Given the description of an element on the screen output the (x, y) to click on. 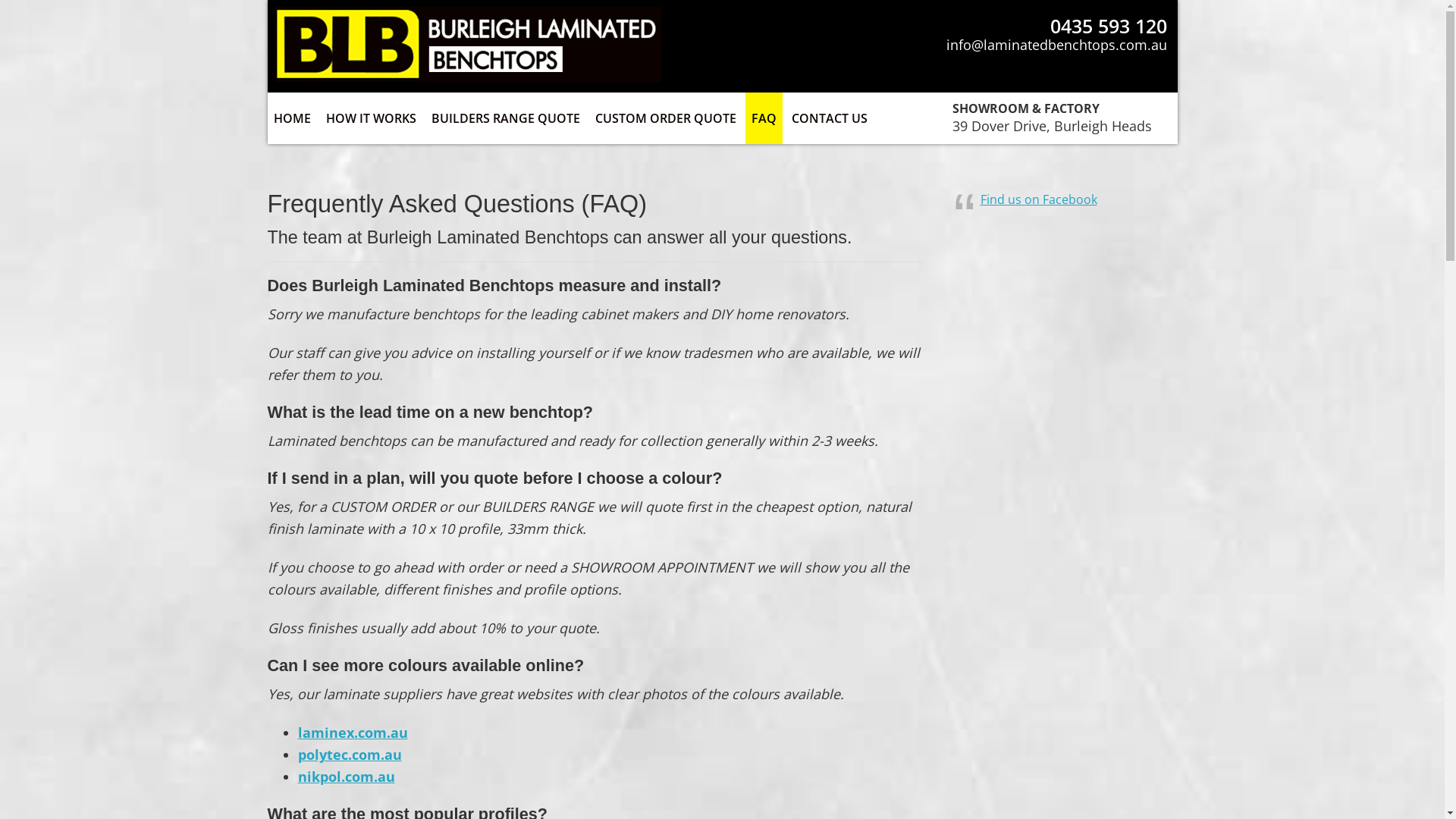
HOW IT WORKS Element type: text (371, 118)
HOME Element type: text (291, 118)
CONTACT US Element type: text (829, 118)
SHOWROOM & FACTORY
39 Dover Drive, Burleigh Heads Element type: text (1051, 116)
Skip to primary navigation Element type: text (0, 0)
nikpol.com.au Element type: text (345, 776)
FAQ Element type: text (762, 118)
Find us on Facebook Element type: text (1037, 199)
laminex.com.au Element type: text (352, 732)
polytec.com.au Element type: text (349, 754)
Burleigh Laminated Benchtops Element type: hover (467, 76)
CUSTOM ORDER QUOTE Element type: text (664, 118)
BUILDERS RANGE QUOTE Element type: text (504, 118)
info@laminatedbenchtops.com.au Element type: text (1056, 44)
